Given the description of an element on the screen output the (x, y) to click on. 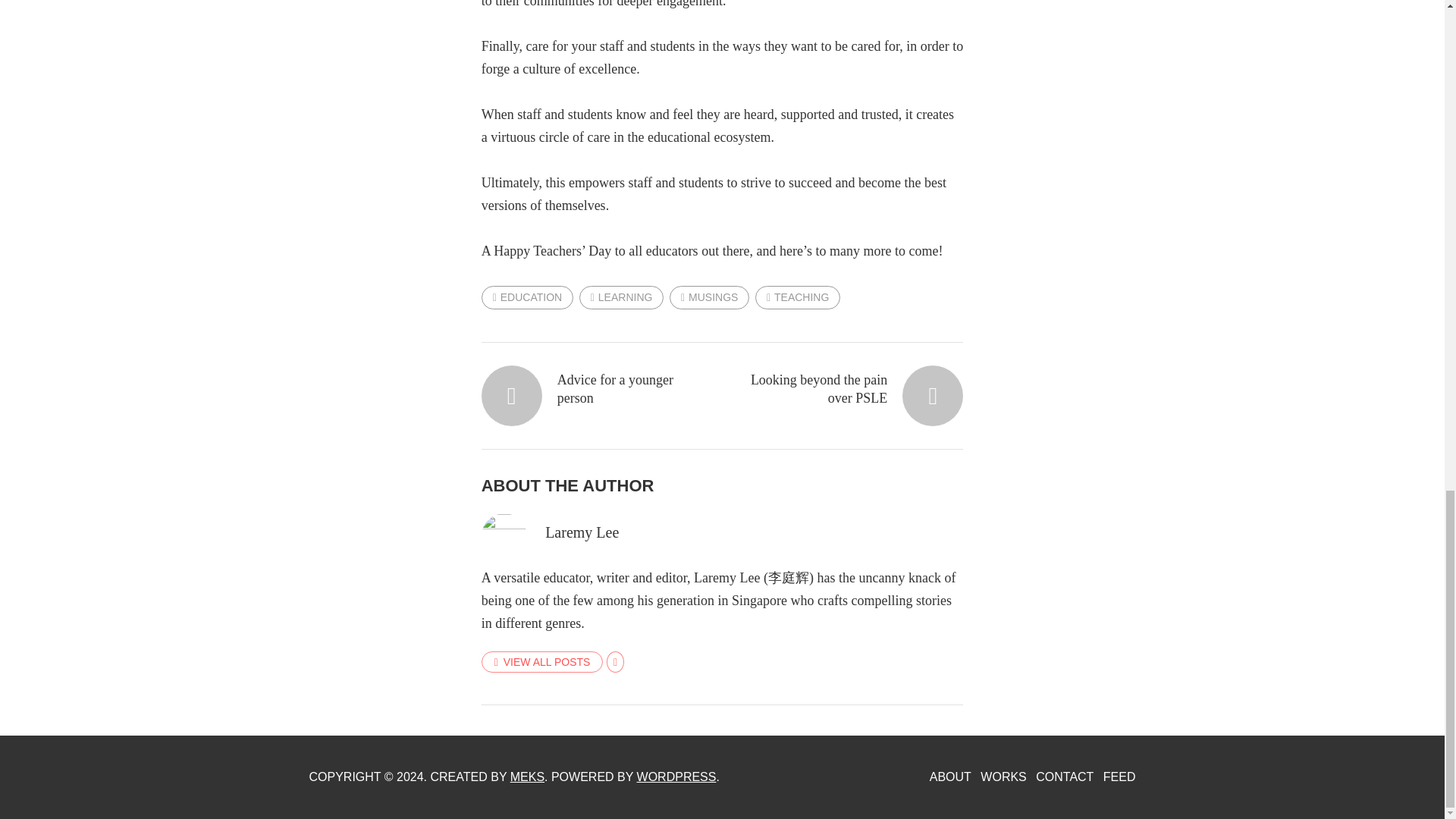
WORKS (1002, 776)
WORDPRESS (676, 776)
CONTACT (1064, 776)
Looking beyond the pain over PSLE (853, 388)
VIEW ALL POSTS (542, 661)
Advice for a younger person (590, 388)
TEACHING (797, 297)
ABOUT (950, 776)
MUSINGS (709, 297)
FEED (1119, 776)
MEKS (527, 776)
LEARNING (621, 297)
EDUCATION (527, 297)
